Given the description of an element on the screen output the (x, y) to click on. 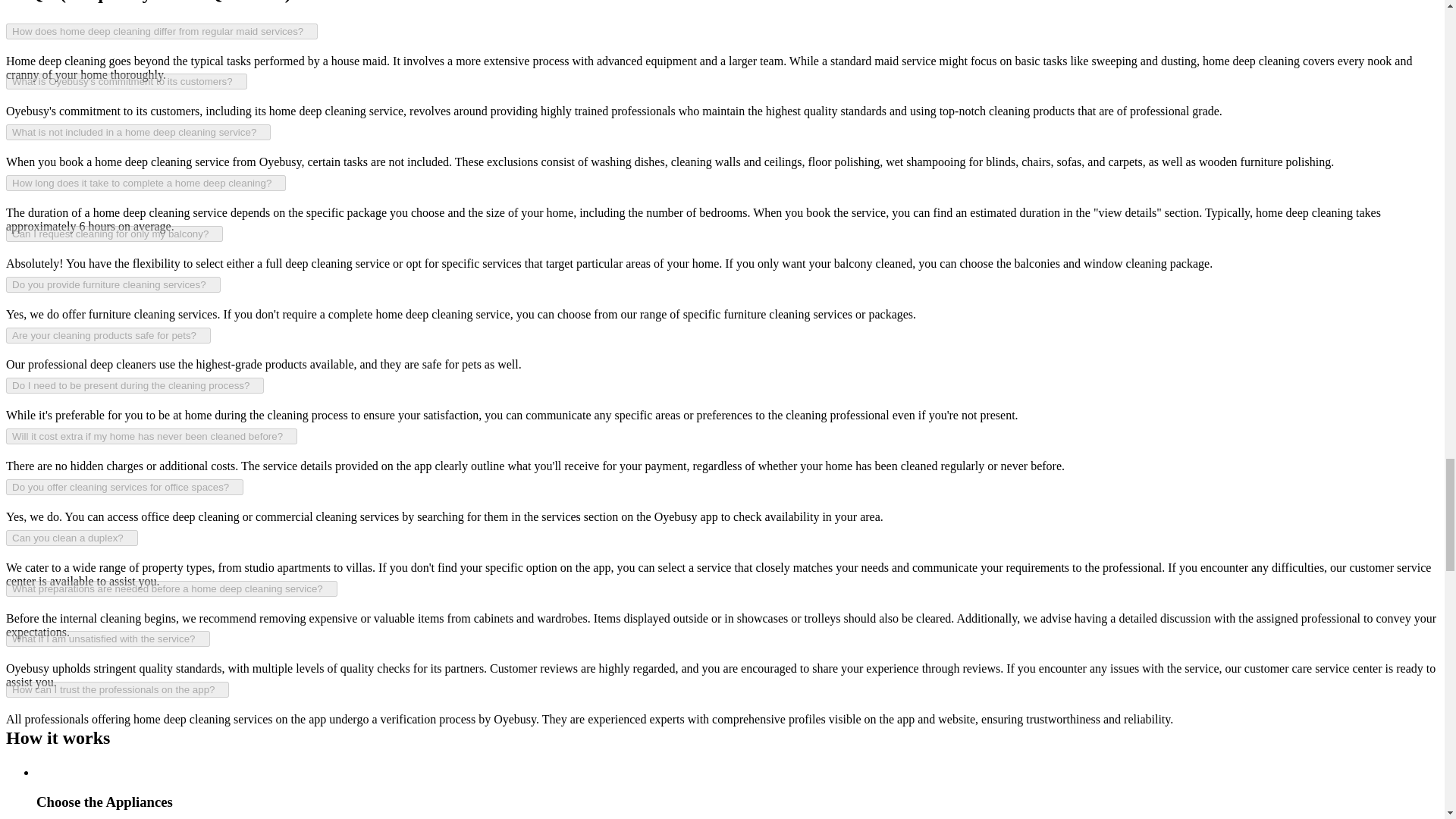
What is not included in a home deep cleaning service? (137, 132)
Will it cost extra if my home has never been cleaned before? (151, 436)
Do I need to be present during the cleaning process? (134, 385)
Are your cleaning products safe for pets? (108, 335)
Can I request cleaning for only my balcony? (113, 233)
What is Oyebusy's commitment to its customers? (126, 81)
Do you provide furniture cleaning services? (113, 284)
How long does it take to complete a home deep cleaning? (145, 182)
